Given the description of an element on the screen output the (x, y) to click on. 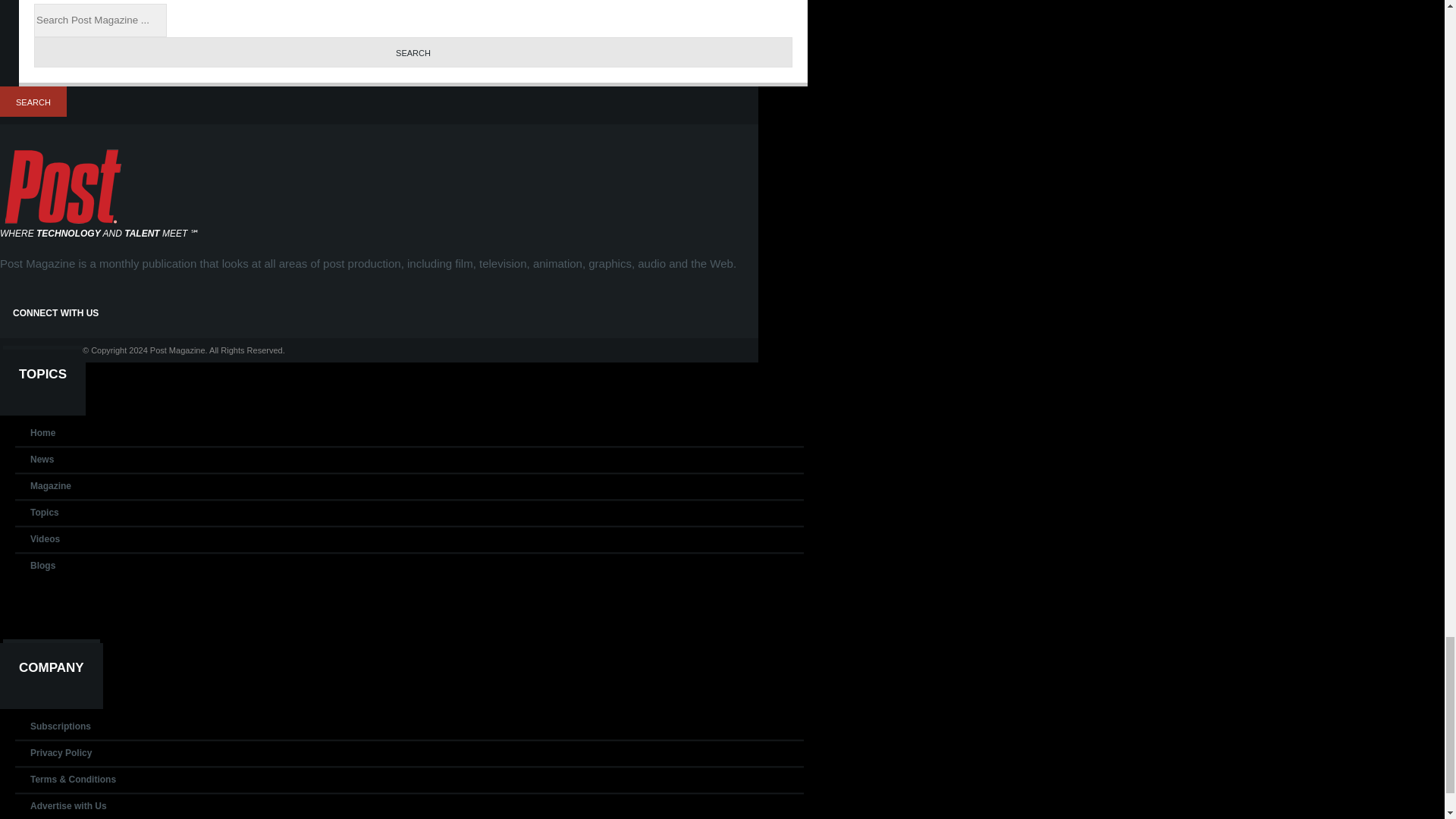
Search (412, 51)
Search (33, 101)
